Given the description of an element on the screen output the (x, y) to click on. 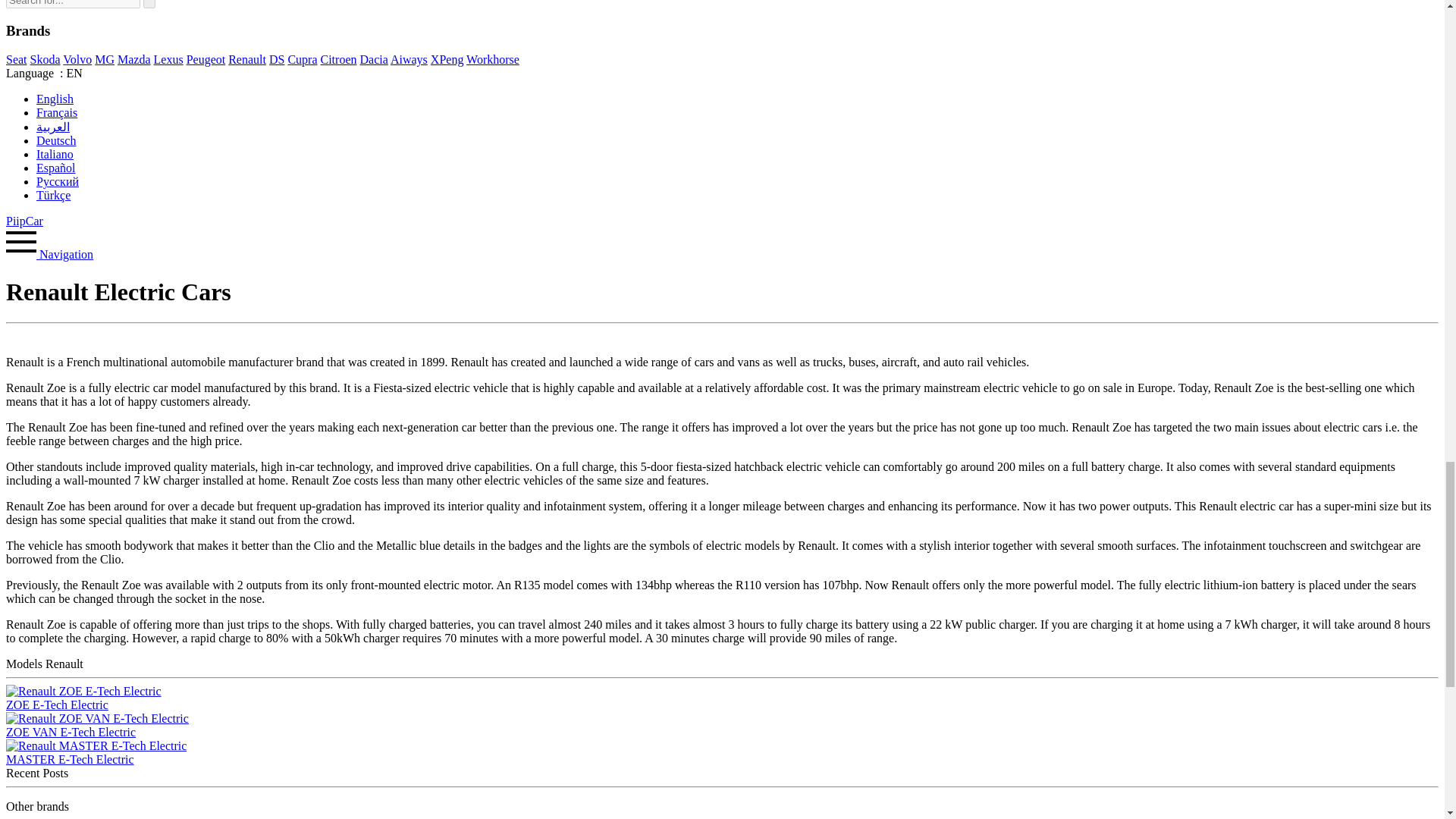
MG (104, 59)
Renault MASTER E-Tech Electric (95, 745)
Peugeot (205, 59)
Italiano (55, 154)
XPeng (447, 59)
Volvo (76, 59)
Aiways (409, 59)
Dacia (373, 59)
English (55, 98)
DS (276, 59)
